Given the description of an element on the screen output the (x, y) to click on. 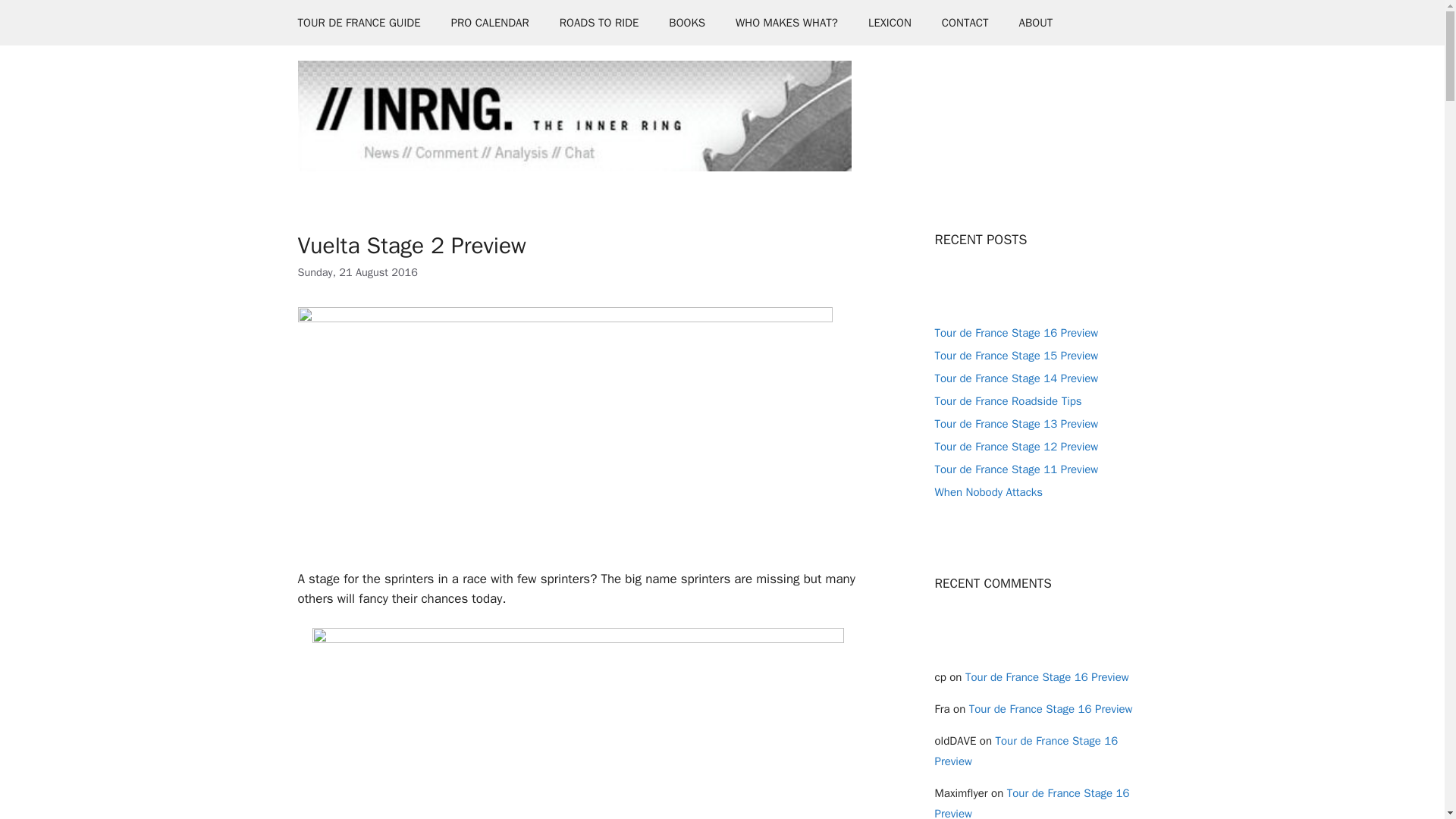
ROADS TO RIDE (598, 22)
CONTACT (965, 22)
BOOKS (686, 22)
WHO MAKES WHAT? (786, 22)
PRO CALENDAR (489, 22)
ABOUT (1036, 22)
TOUR DE FRANCE GUIDE (358, 22)
LEXICON (889, 22)
